Given the description of an element on the screen output the (x, y) to click on. 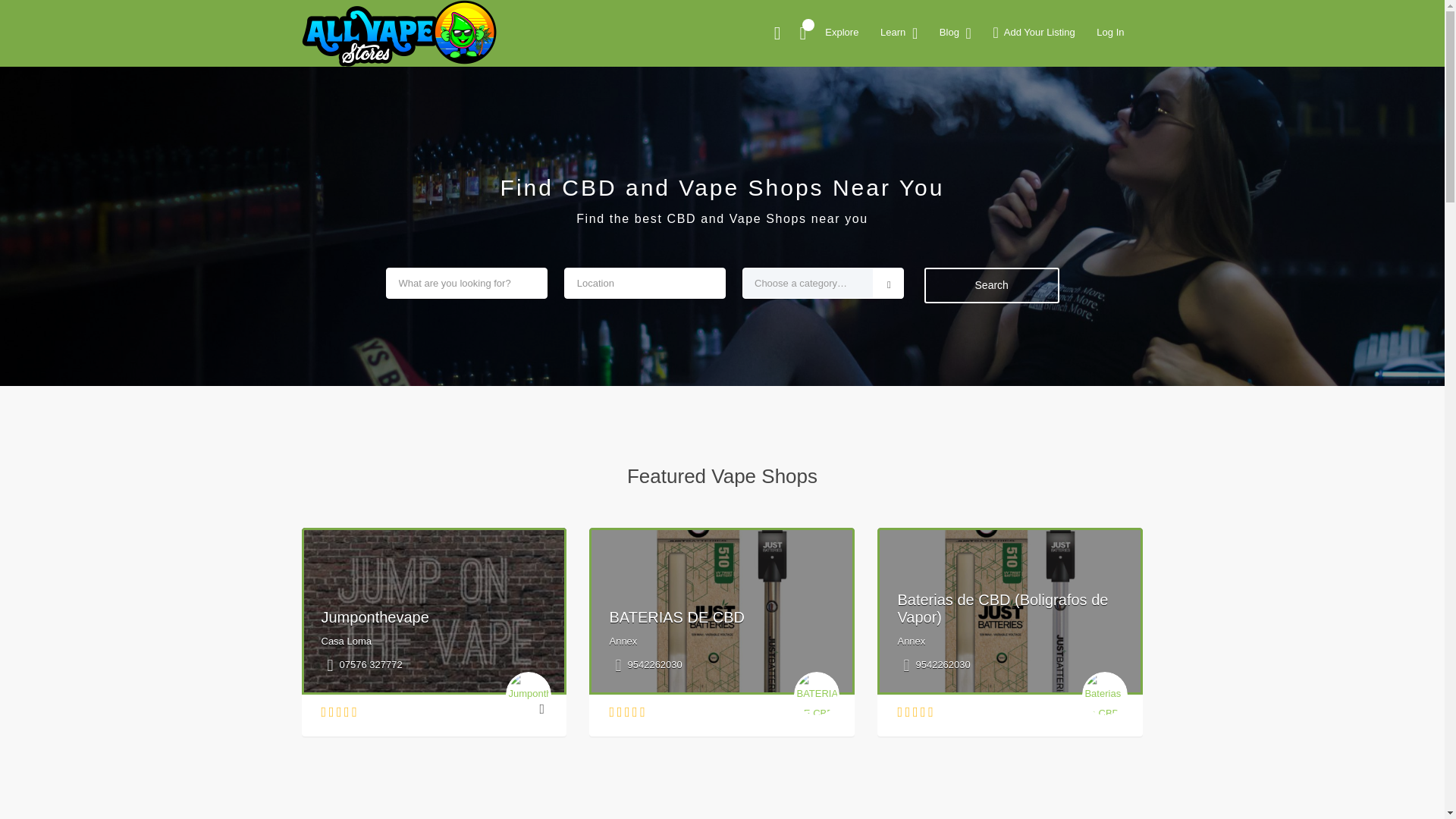
Search (1050, 85)
Skip to content (34, 9)
LUCYG-MAKEUP.CO.UK (414, 28)
Instagram (737, 181)
June 2020 (990, 432)
Search (1050, 85)
Latest Article (996, 172)
Log in (980, 588)
Blog (976, 510)
ADMINISTRATOR (417, 118)
DMCA Policy (996, 282)
Disclaimer (990, 354)
Contact Us (991, 258)
Search (1050, 85)
Terms of Use (996, 330)
